Given the description of an element on the screen output the (x, y) to click on. 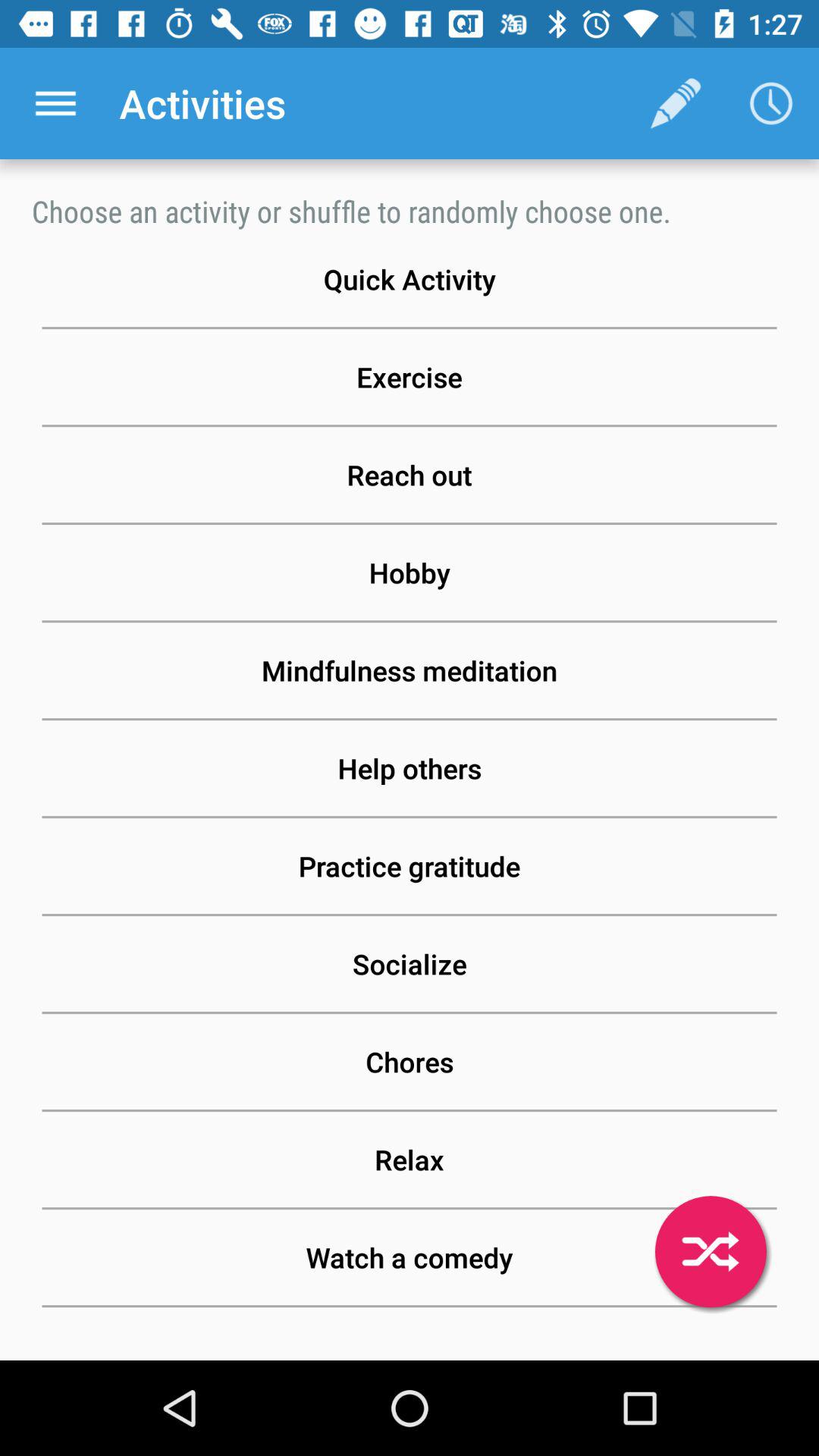
launch app to the left of the activities item (55, 103)
